Given the description of an element on the screen output the (x, y) to click on. 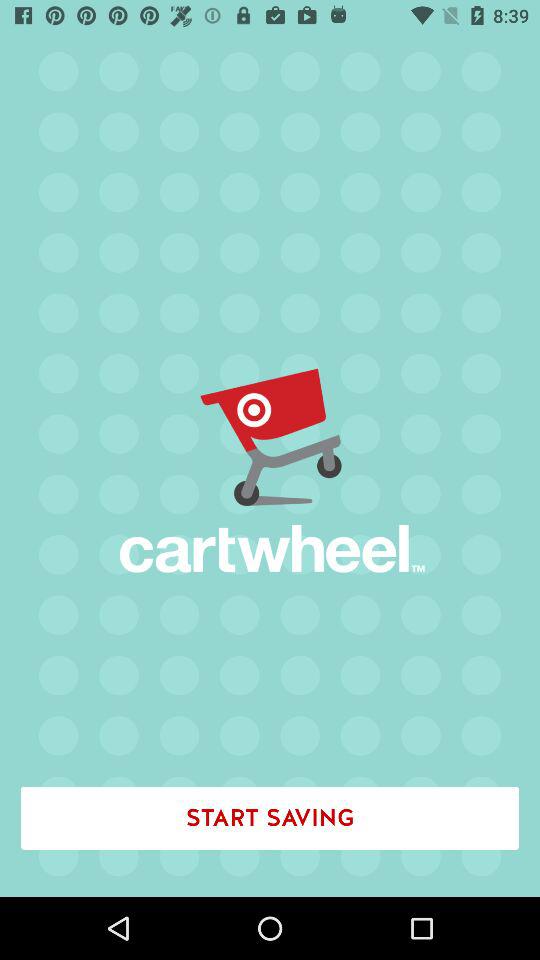
select the start saving icon (270, 817)
